Given the description of an element on the screen output the (x, y) to click on. 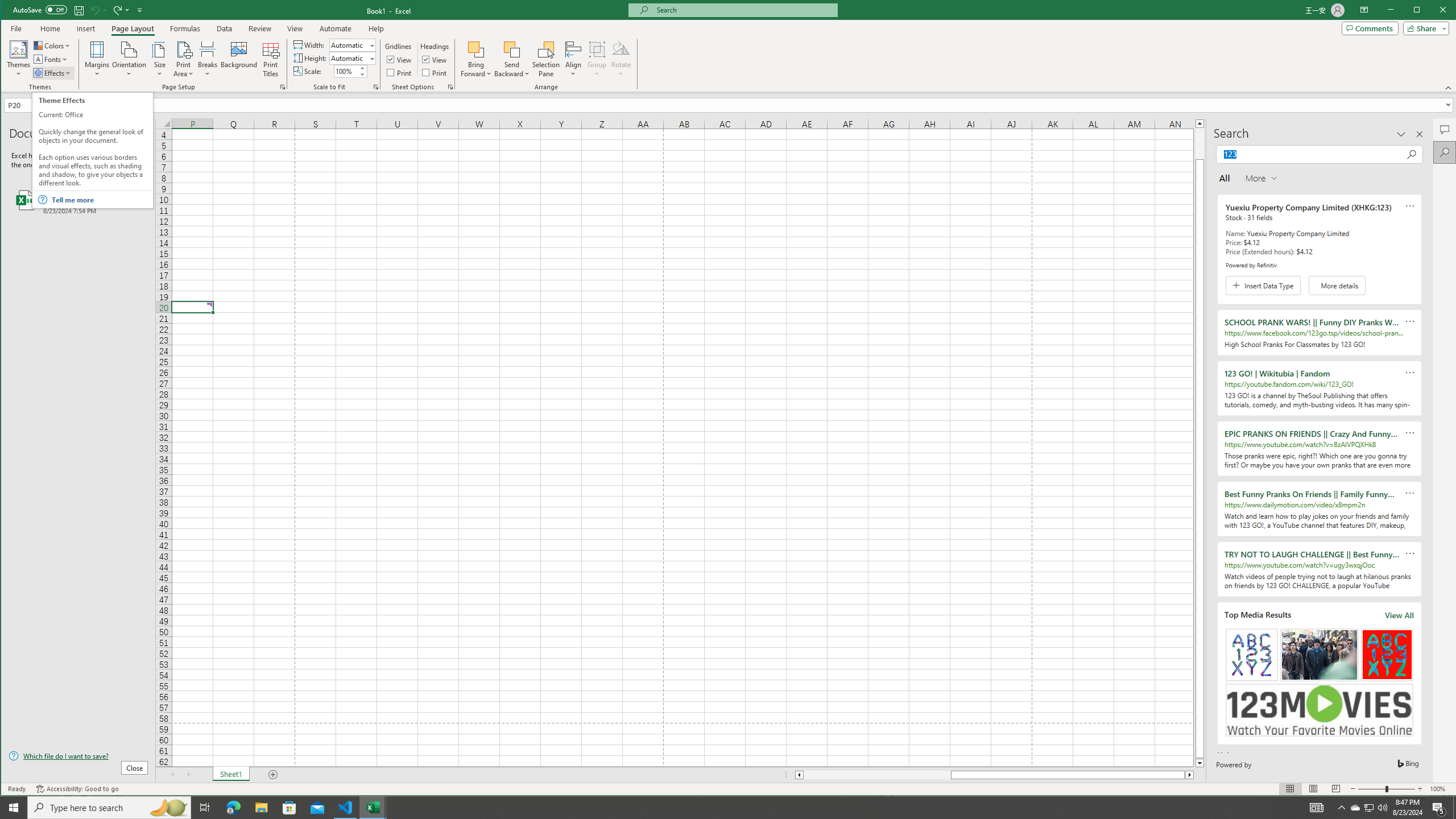
Page up (1199, 142)
Colors (53, 45)
Running applications (1368, 807)
Microsoft Edge (717, 807)
Height (233, 807)
